Given the description of an element on the screen output the (x, y) to click on. 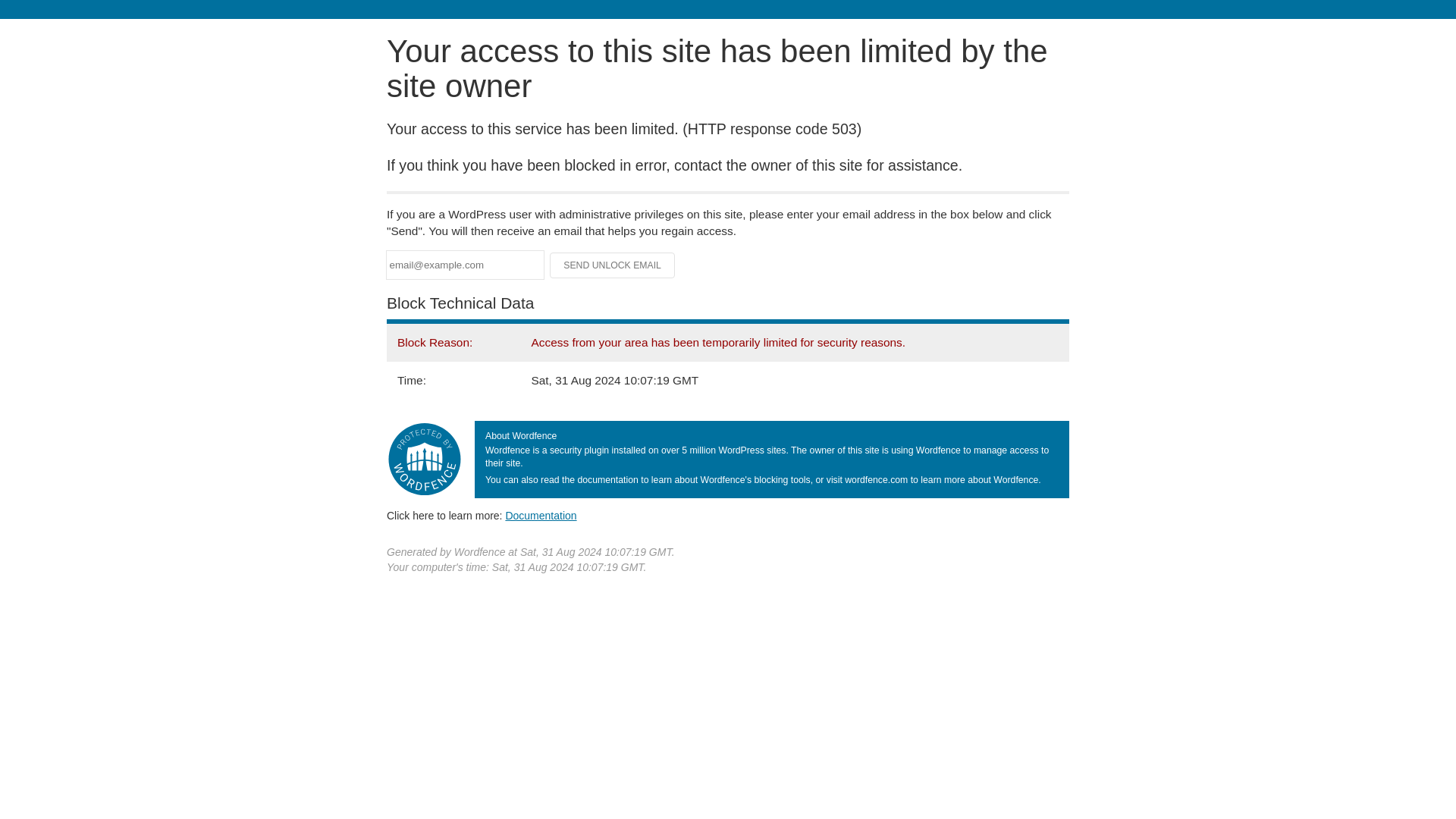
Send Unlock Email (612, 265)
Send Unlock Email (612, 265)
Documentation (540, 515)
